Given the description of an element on the screen output the (x, y) to click on. 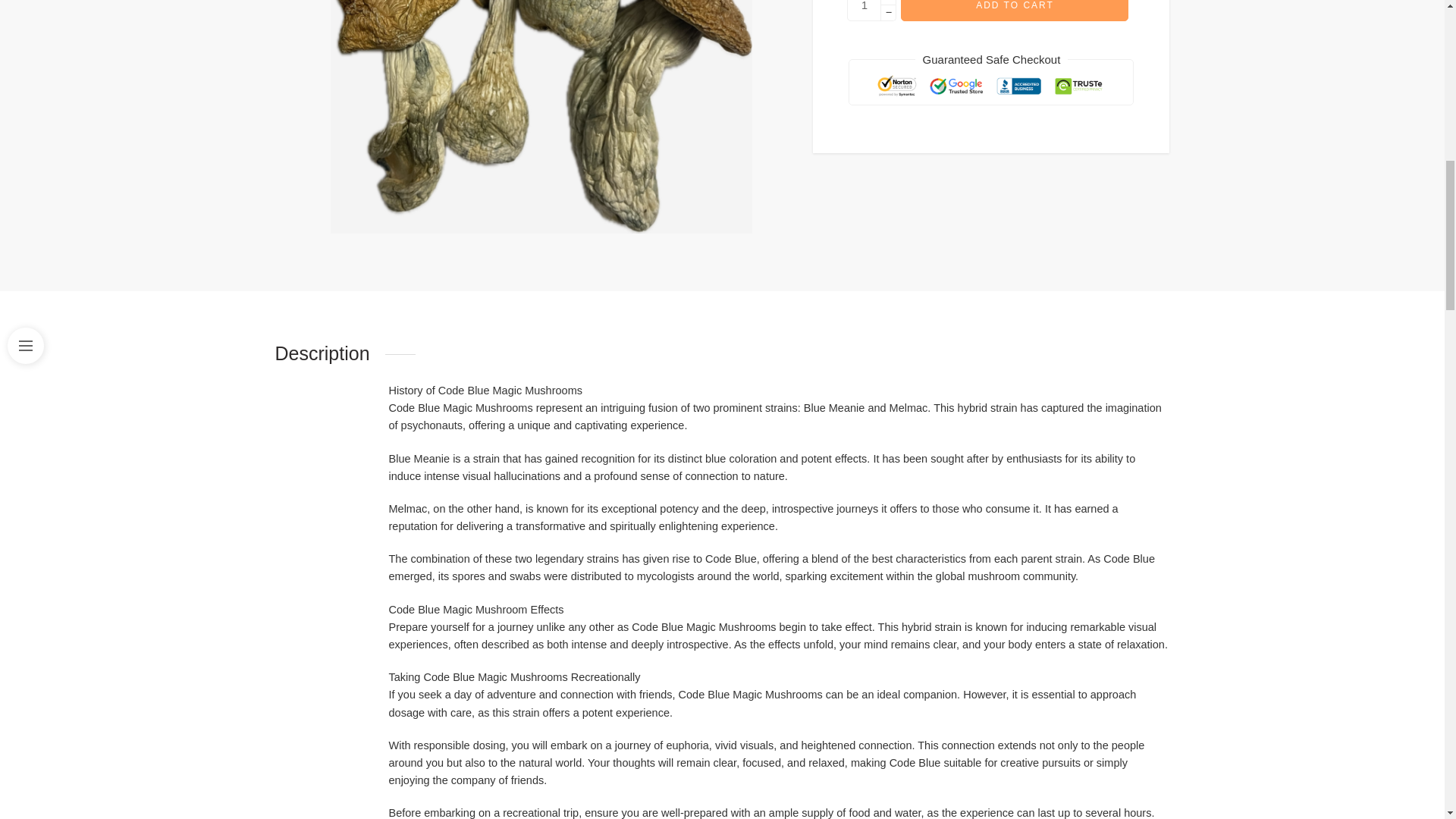
1 (863, 10)
